Given the description of an element on the screen output the (x, y) to click on. 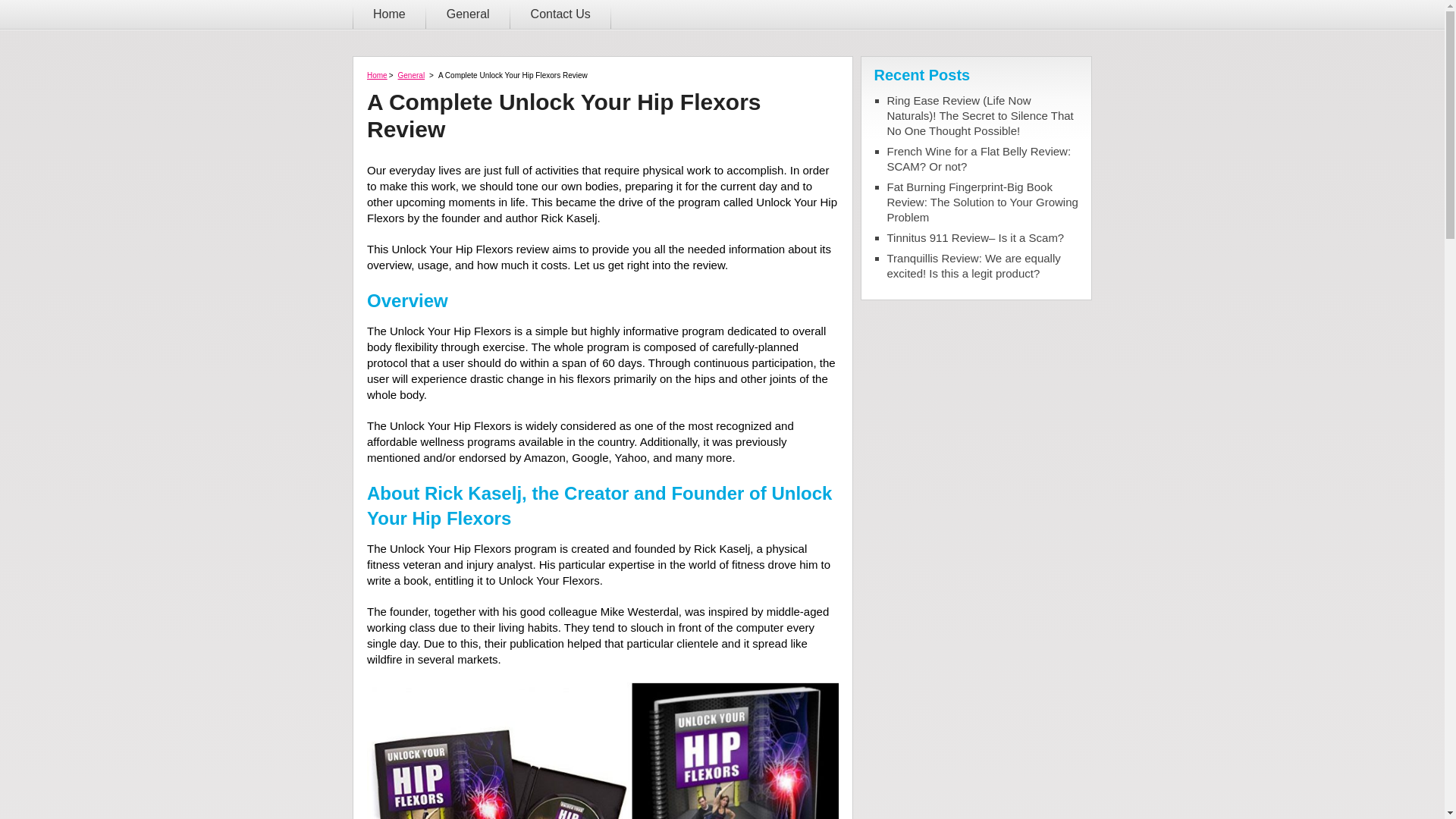
Contact Us Element type: text (560, 14)
Home Element type: text (389, 14)
Home Element type: text (377, 75)
General Element type: text (468, 14)
General Element type: text (411, 75)
French Wine for a Flat Belly Review: SCAM? Or not? Element type: text (983, 159)
